Given the description of an element on the screen output the (x, y) to click on. 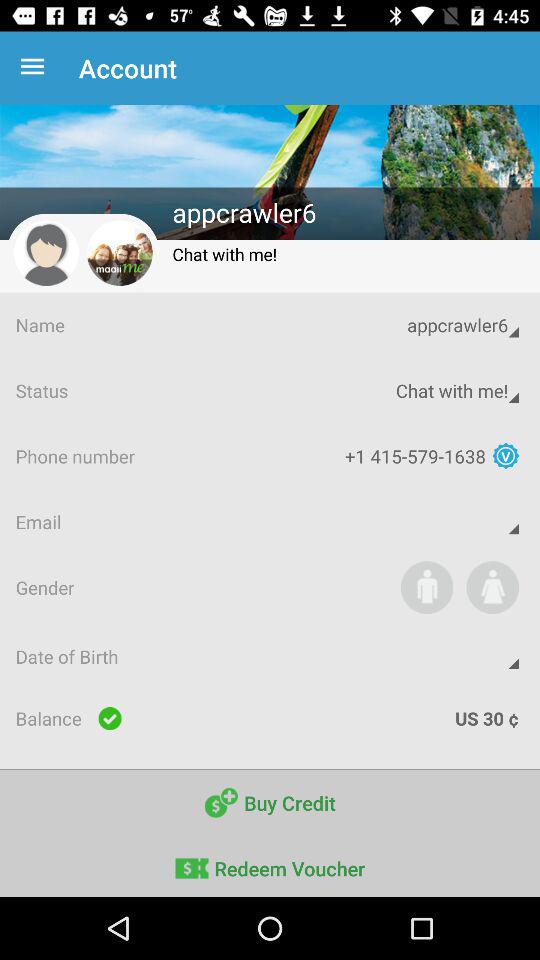
press app to the left of account app (36, 68)
